Given the description of an element on the screen output the (x, y) to click on. 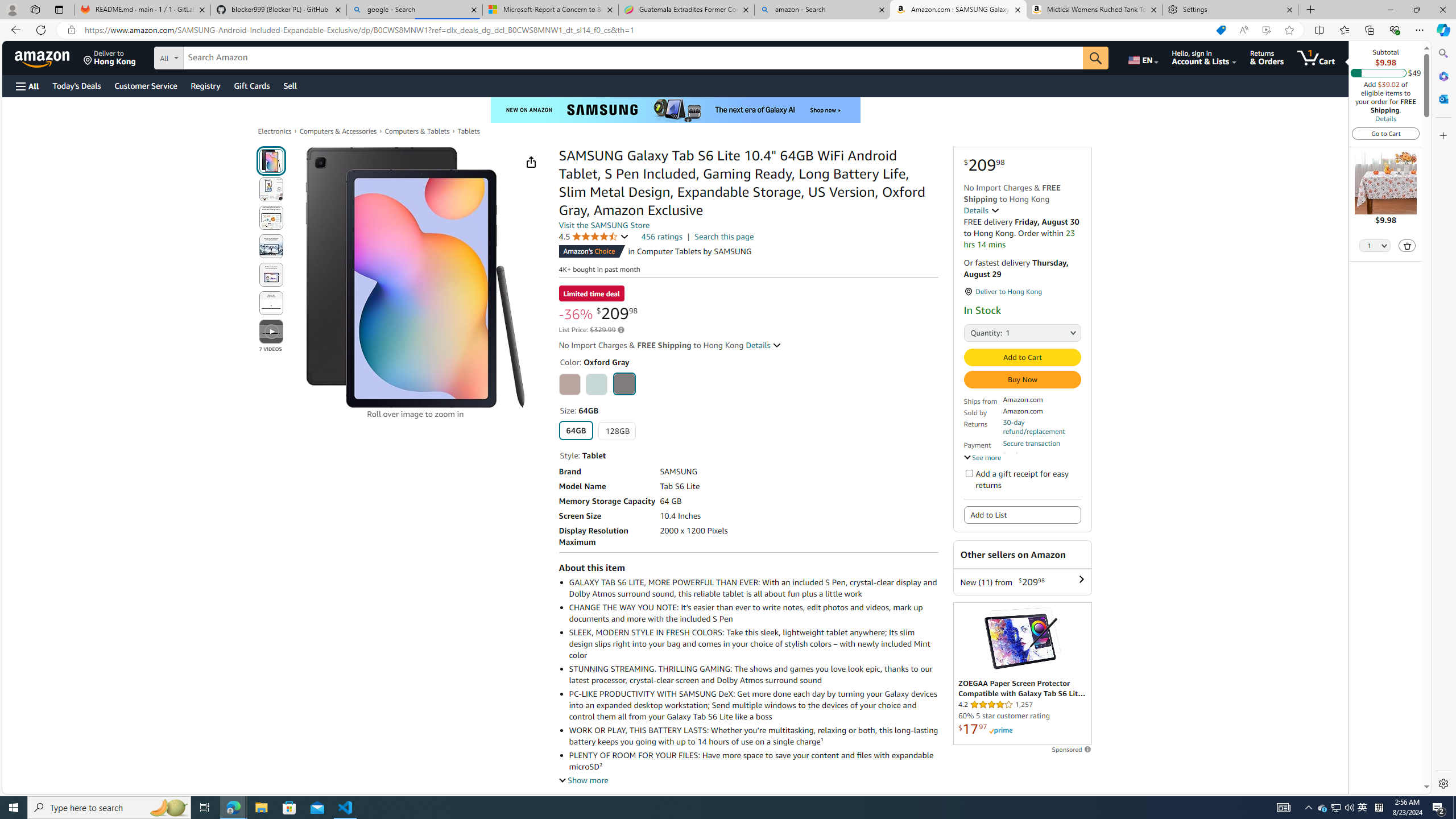
Gift Cards (251, 85)
Search Amazon (633, 57)
Search this page (724, 236)
4.5 4.5 out of 5 stars (593, 236)
Search in (210, 56)
Computers & Accessories (337, 131)
